Given the description of an element on the screen output the (x, y) to click on. 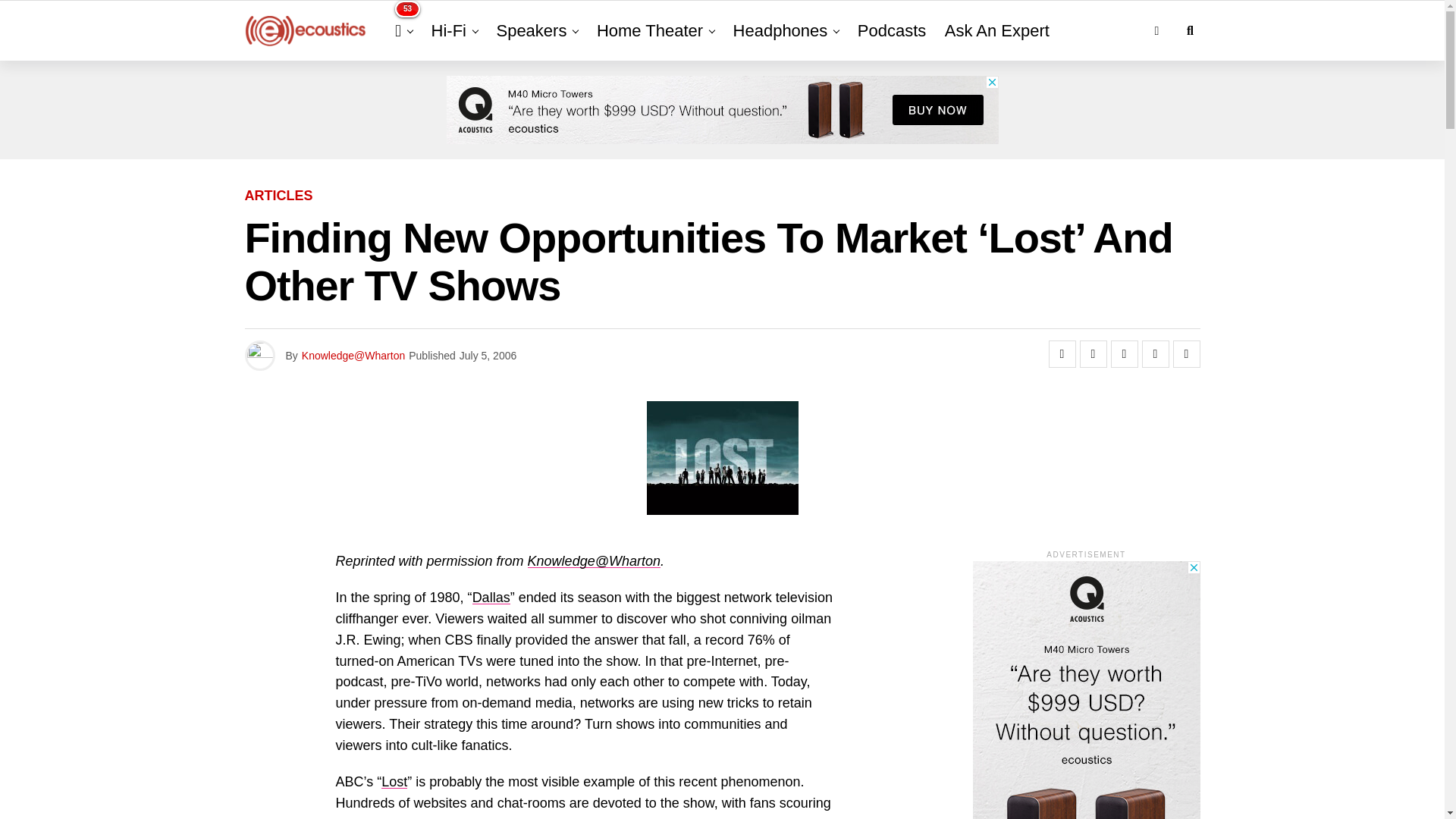
Tweet This Post (1093, 353)
3rd party ad content (721, 110)
Share on Facebook (1061, 353)
245038.jpg (721, 458)
